Given the description of an element on the screen output the (x, y) to click on. 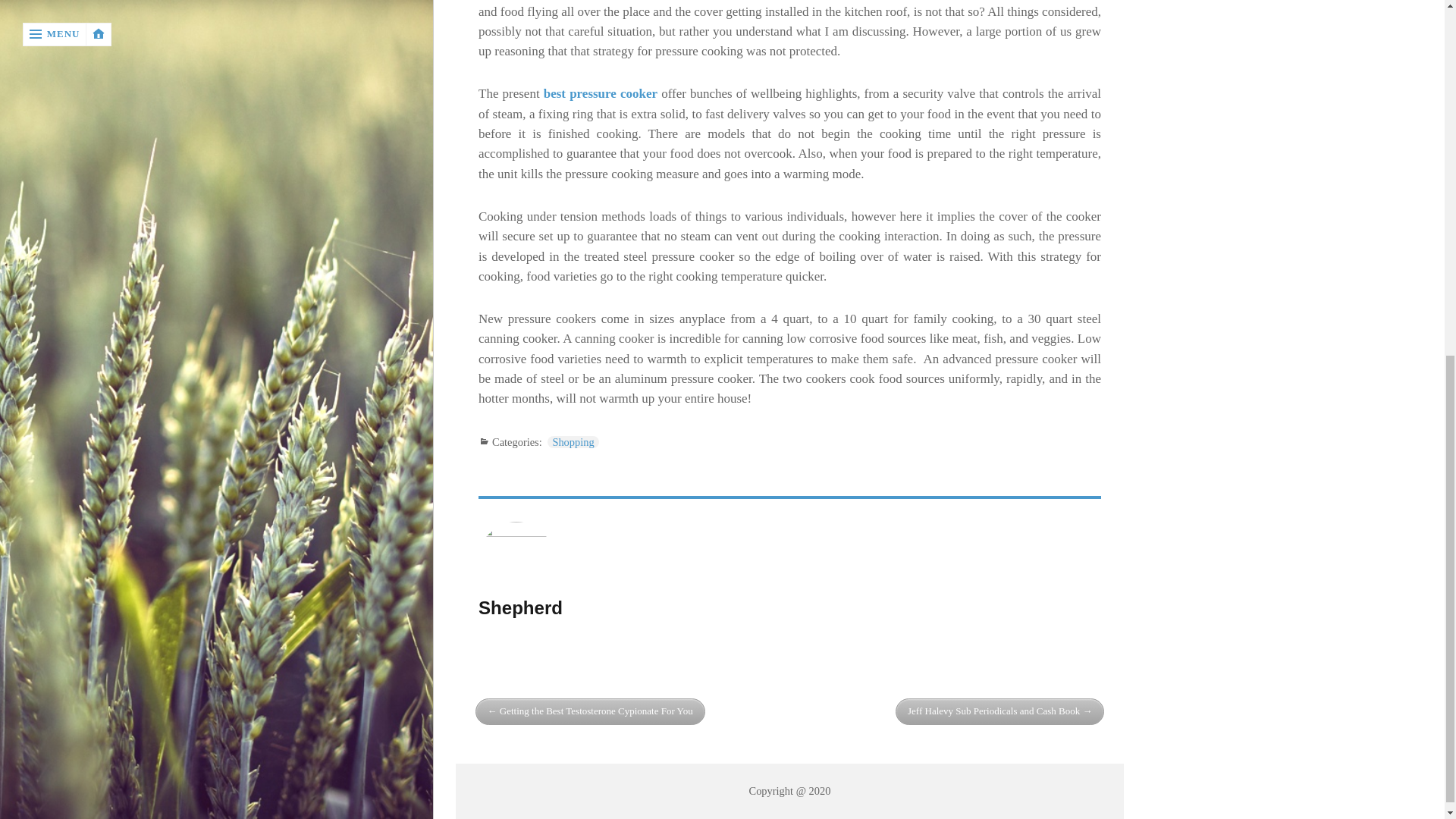
Shopping (572, 441)
Jeff Halevy Sub Periodicals and Cash Book (999, 711)
Getting the Best Testosterone Cypionate For You (590, 711)
best pressure cooker (600, 93)
